Given the description of an element on the screen output the (x, y) to click on. 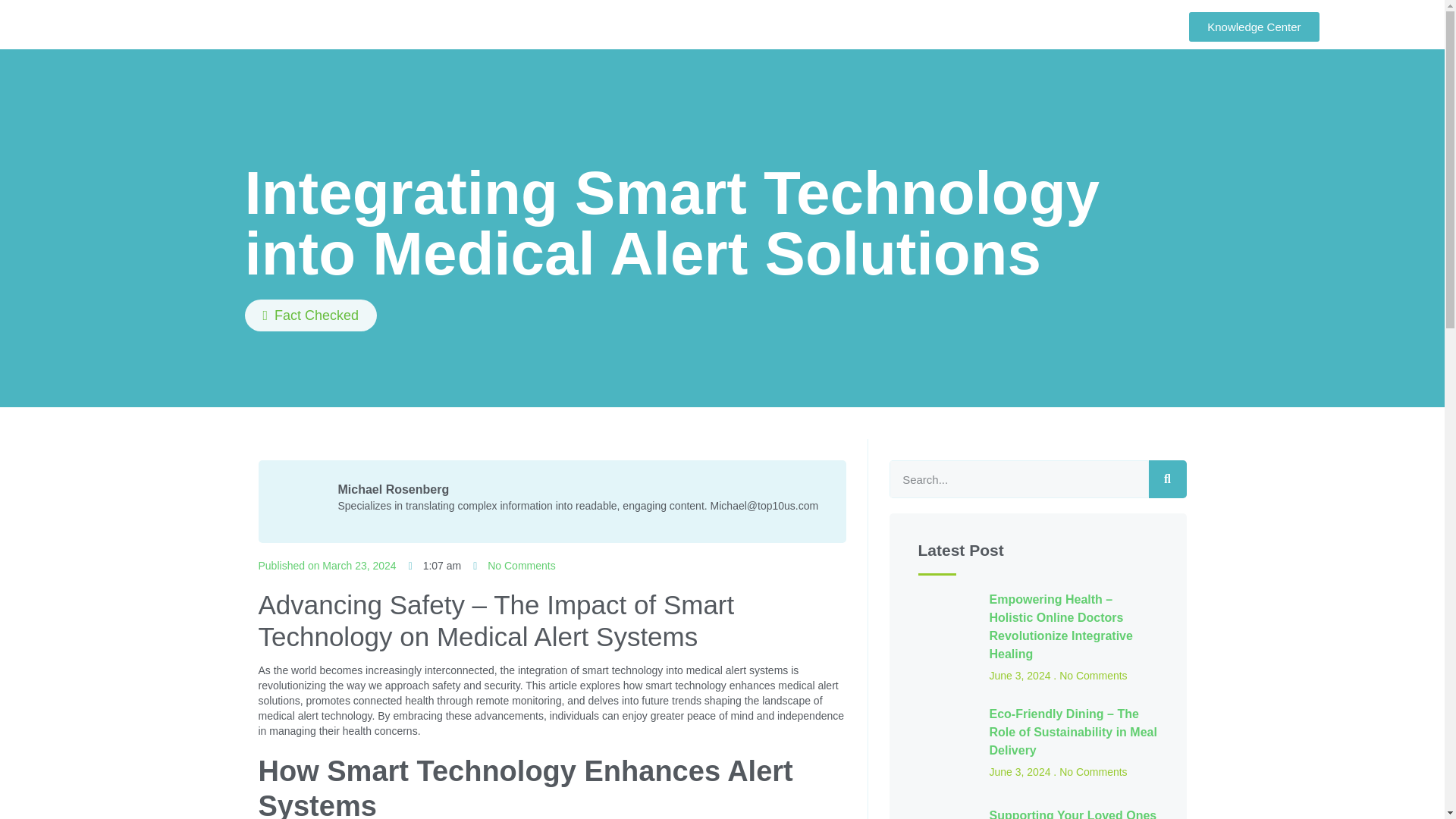
Fact Checked (310, 315)
Search (1167, 478)
Knowledge Center (1254, 26)
No Comments (513, 565)
Published on March 23, 2024 (326, 565)
Search (1018, 478)
